Given the description of an element on the screen output the (x, y) to click on. 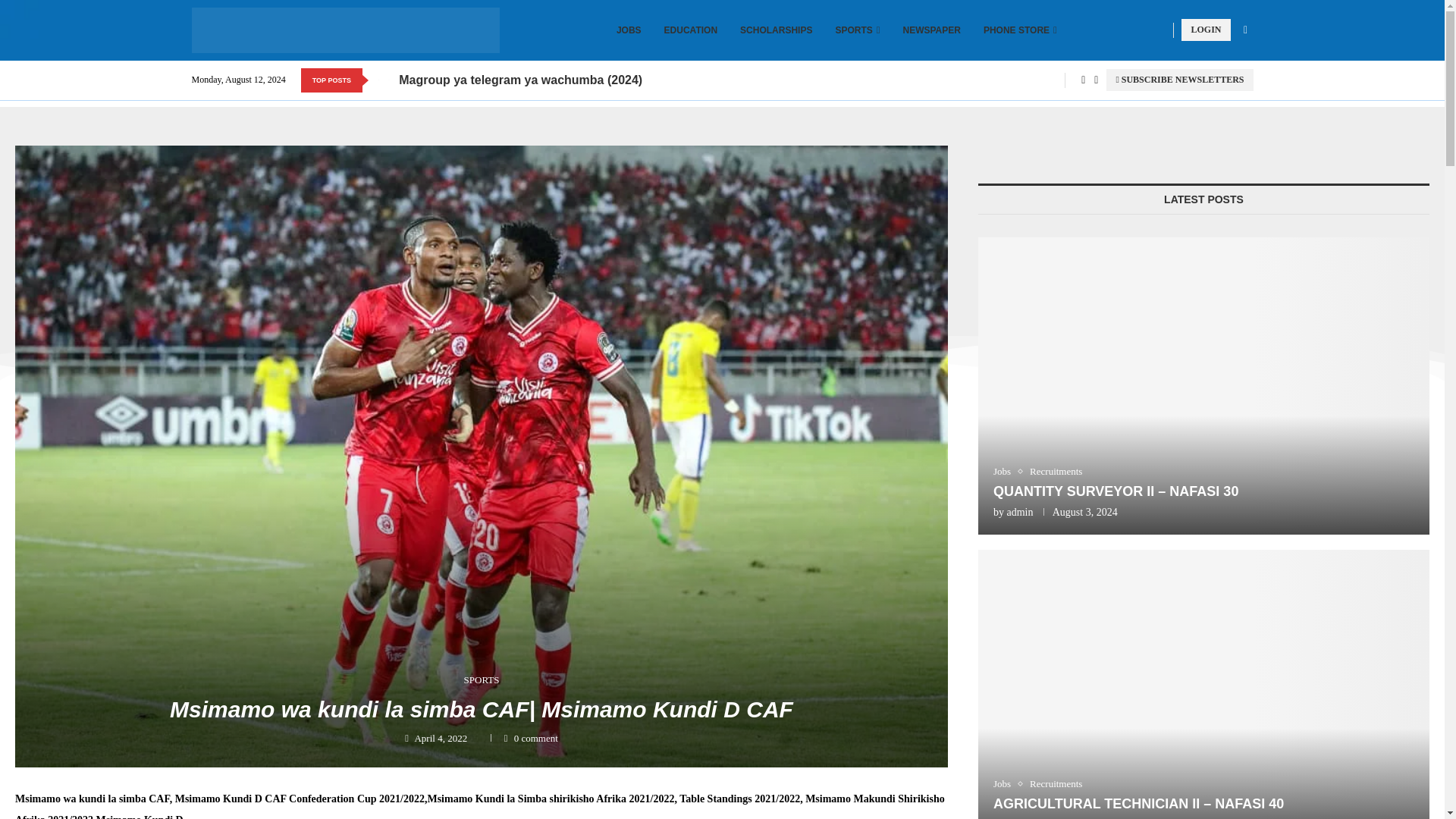
PHONE STORE (1020, 30)
SPORTS (856, 30)
NEWSPAPER (930, 30)
SCHOLARSHIPS (775, 30)
EDUCATION (690, 30)
